Given the description of an element on the screen output the (x, y) to click on. 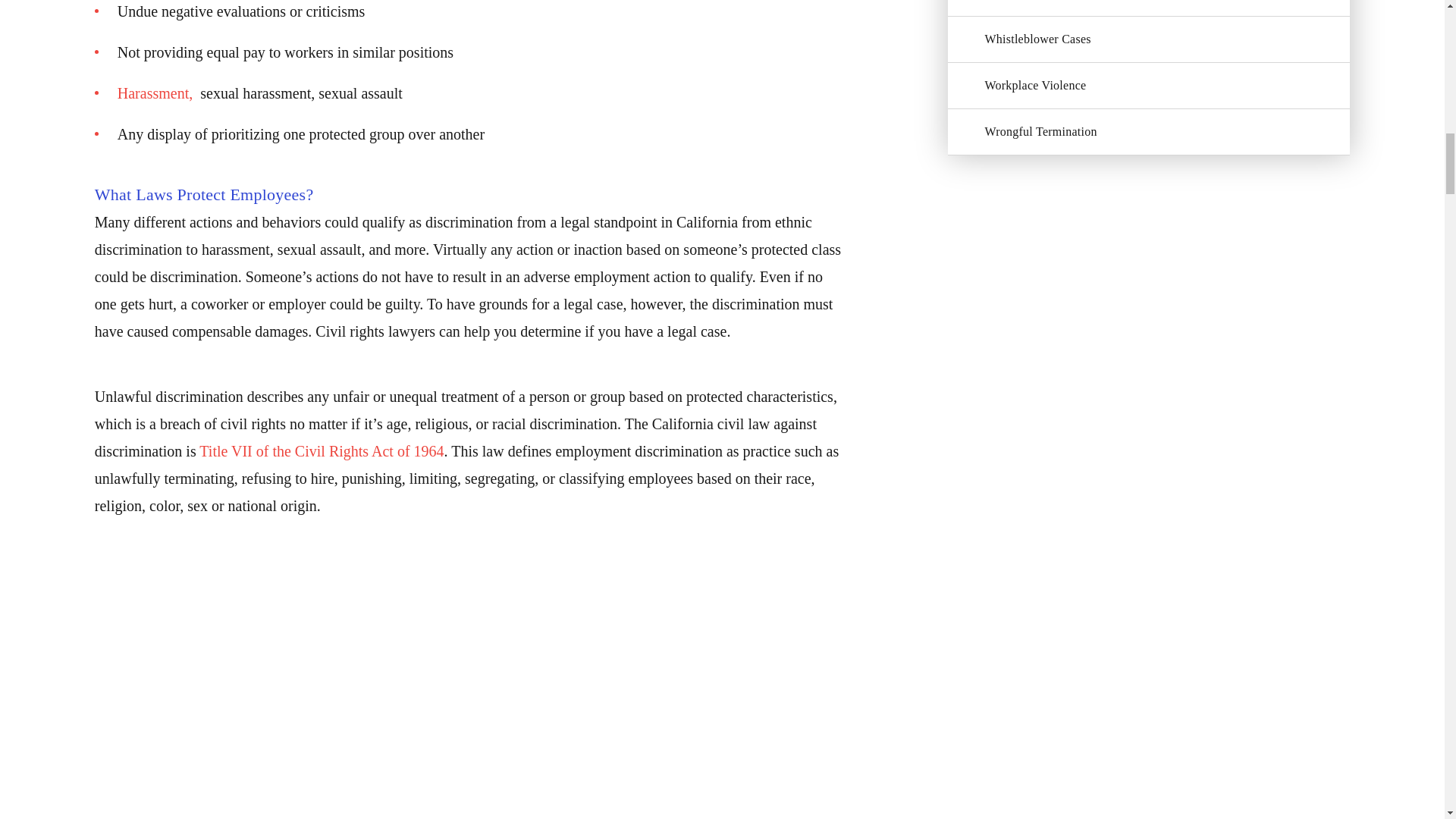
Title VII of the Civil Rights Act of 1964 (321, 451)
Harassment,  (156, 93)
